Given the description of an element on the screen output the (x, y) to click on. 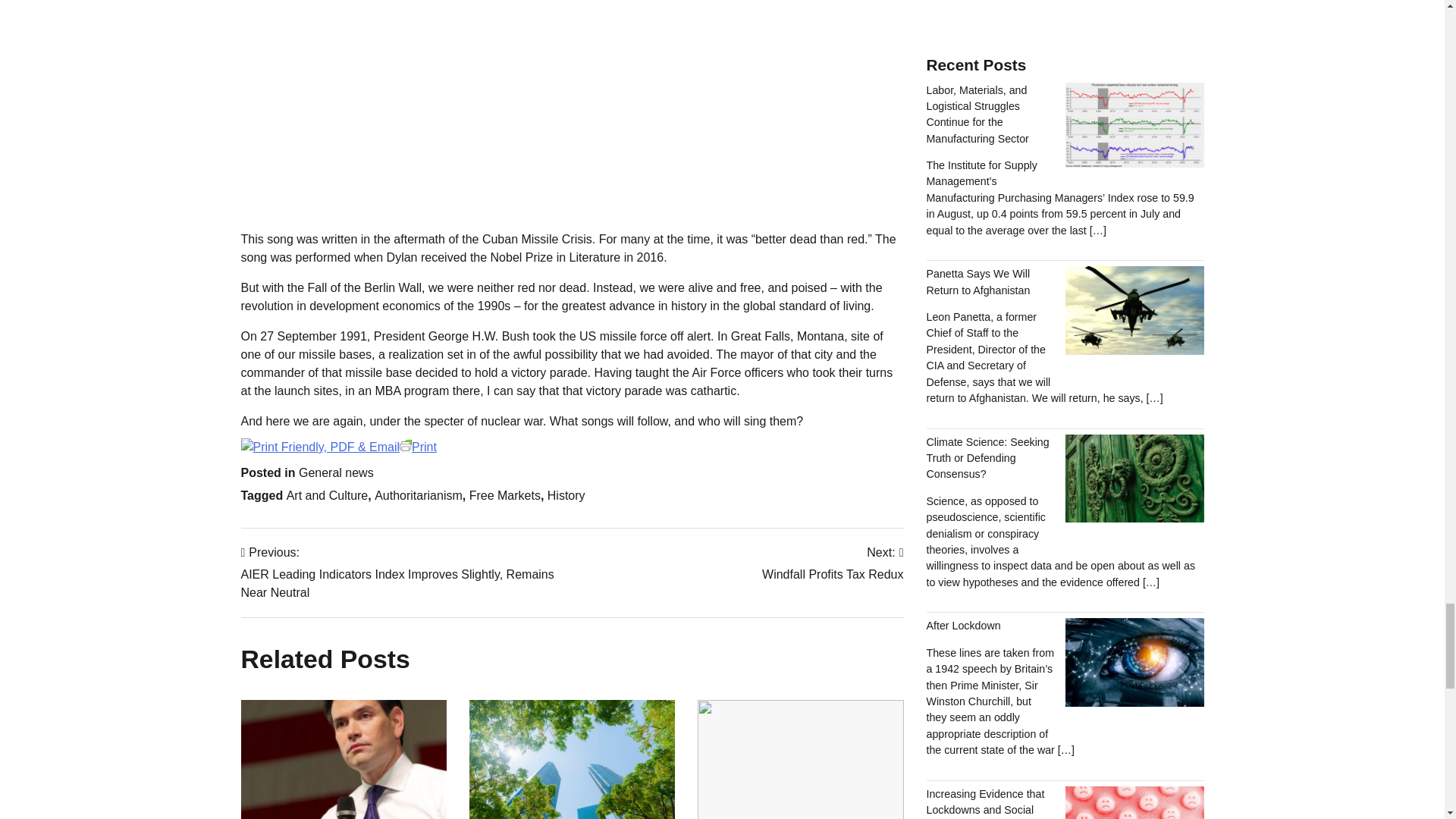
Art and Culture (327, 495)
Authoritarianism (418, 495)
History (566, 495)
General news (336, 472)
Print (338, 446)
Free Markets (504, 495)
